Given the description of an element on the screen output the (x, y) to click on. 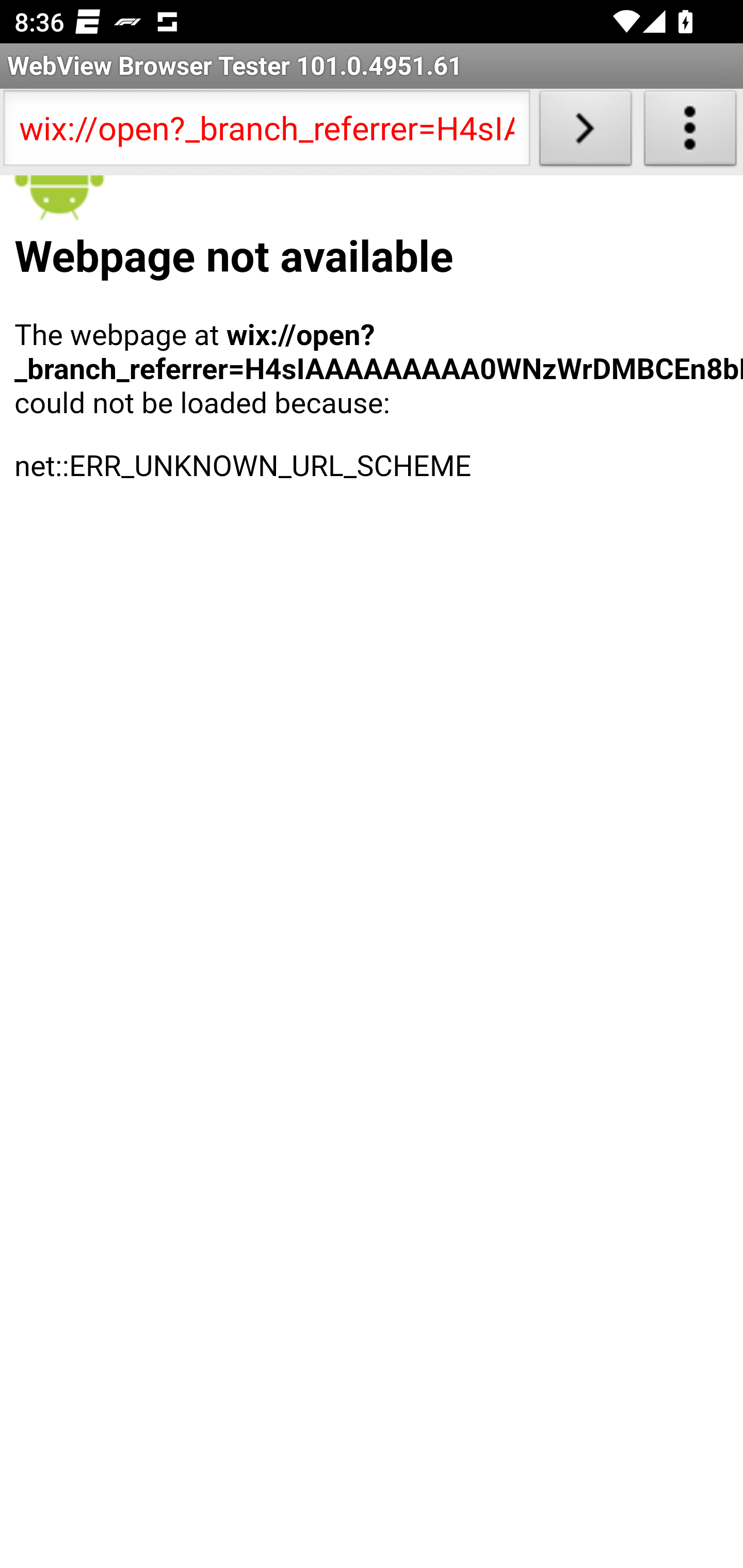
Load URL (585, 132)
About WebView (690, 132)
